Given the description of an element on the screen output the (x, y) to click on. 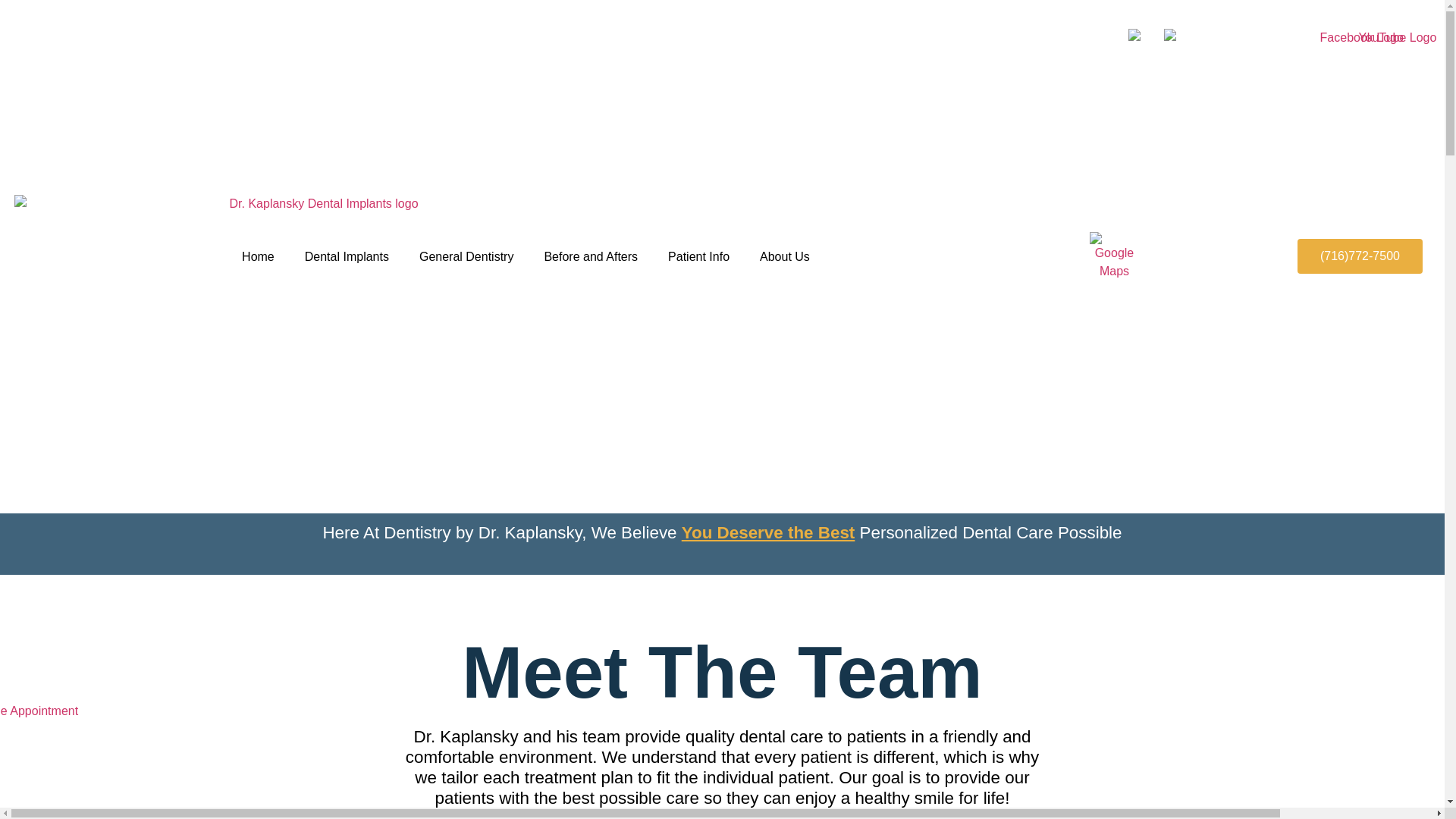
Before and Afters (590, 256)
Dental Implants (346, 256)
Home (258, 256)
About Us (784, 256)
Patient Info (698, 256)
General Dentistry (466, 256)
